Given the description of an element on the screen output the (x, y) to click on. 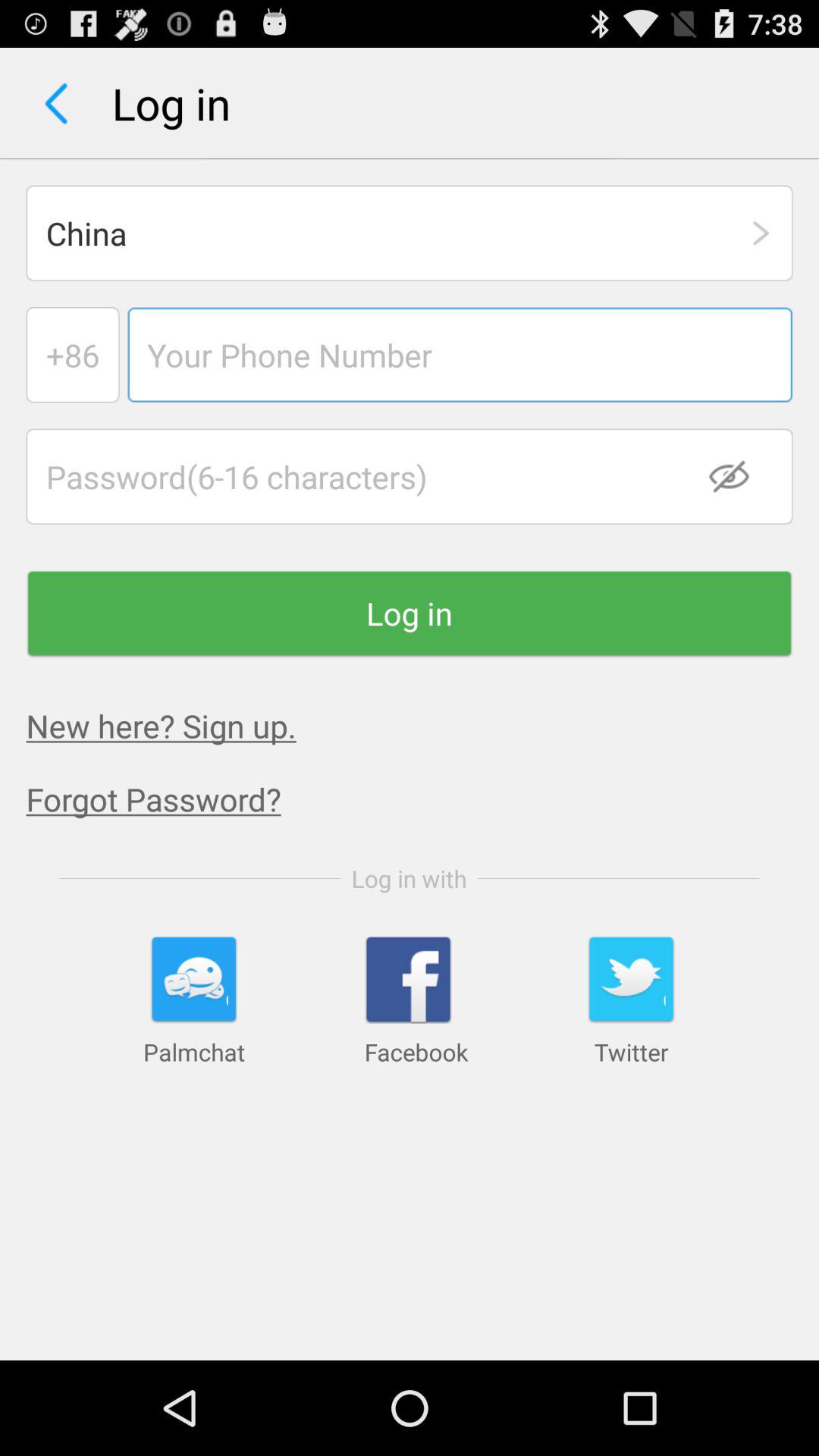
turn on checkbox at the top right corner (738, 476)
